Given the description of an element on the screen output the (x, y) to click on. 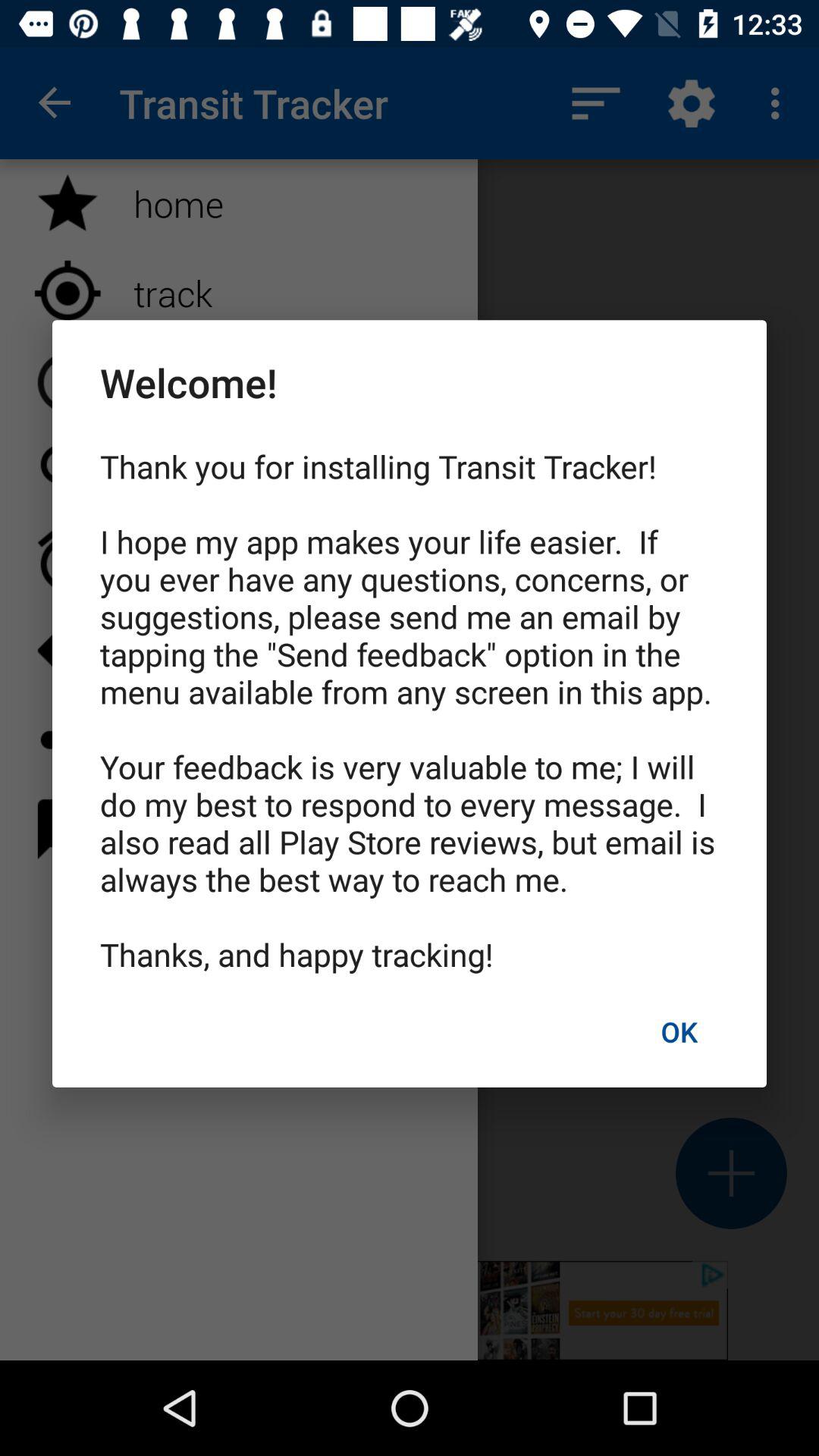
click the icon below thank you for item (678, 1031)
